Given the description of an element on the screen output the (x, y) to click on. 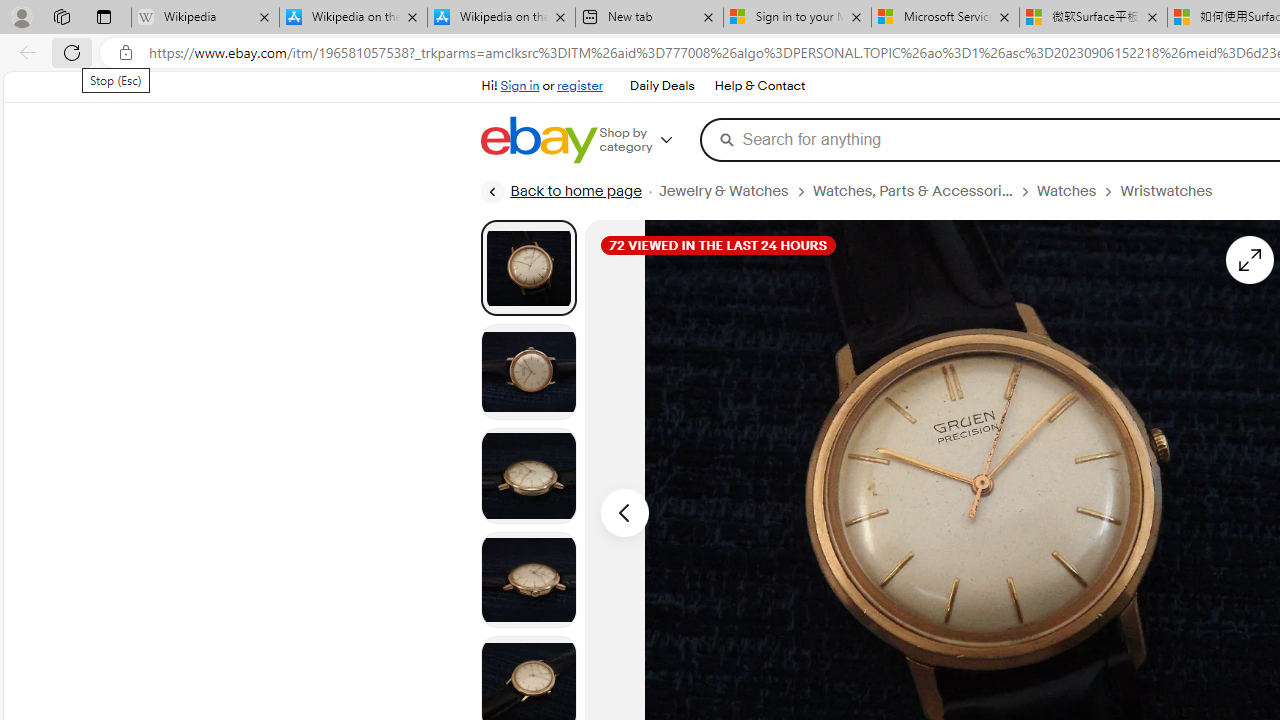
Picture 4 of 8 (528, 579)
Daily Deals (662, 86)
Daily Deals (661, 85)
Shop by category (649, 140)
Watches (1065, 191)
eBay Home (538, 139)
Microsoft Services Agreement (944, 17)
Opens image gallery (1248, 259)
Picture 3 of 8 (528, 475)
register (579, 85)
Picture 4 of 8 (528, 579)
Jewelry & Watches (734, 191)
